Given the description of an element on the screen output the (x, y) to click on. 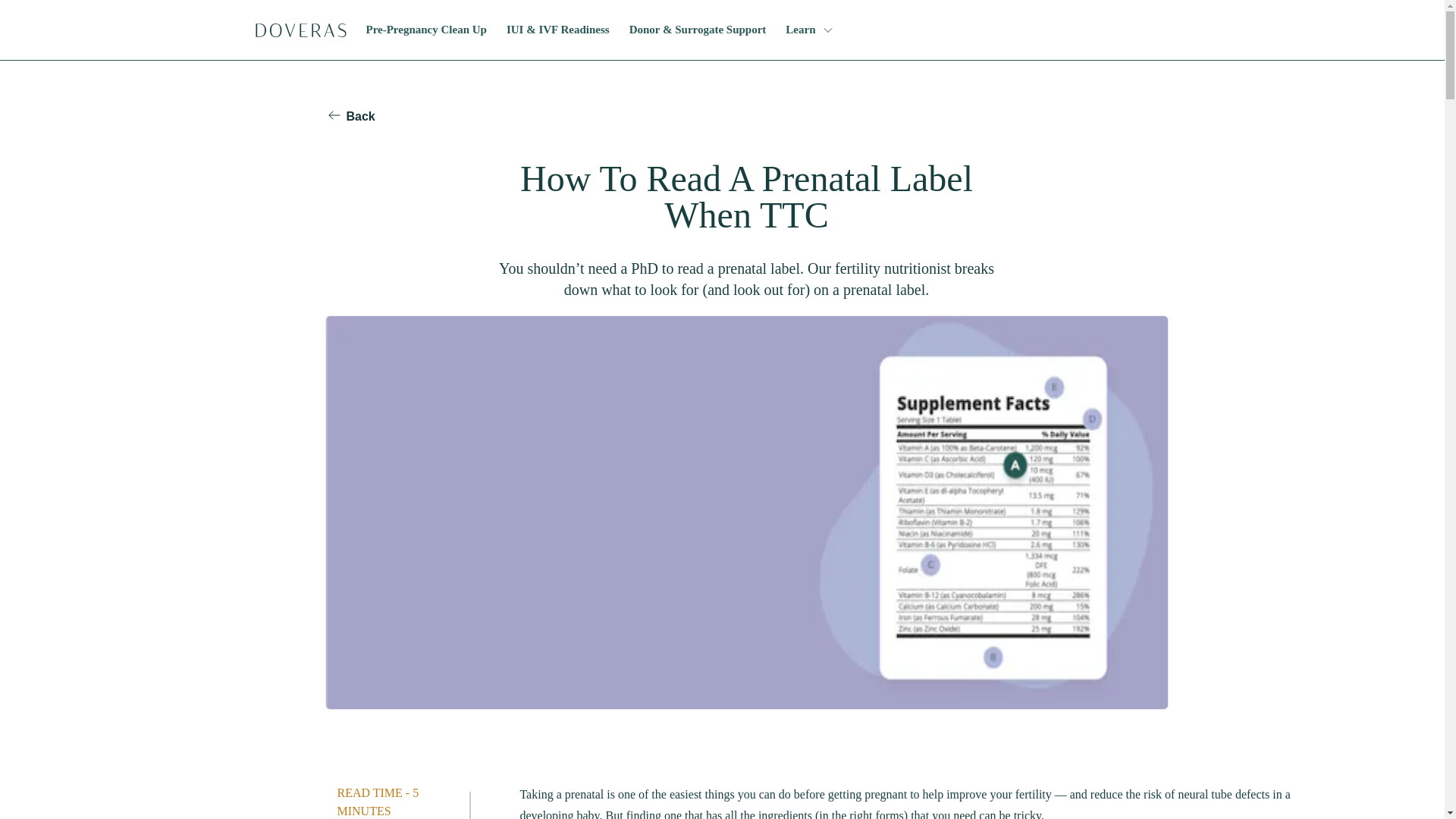
Learn (807, 29)
Back (349, 115)
Pre-Pregnancy Clean Up (423, 29)
